Given the description of an element on the screen output the (x, y) to click on. 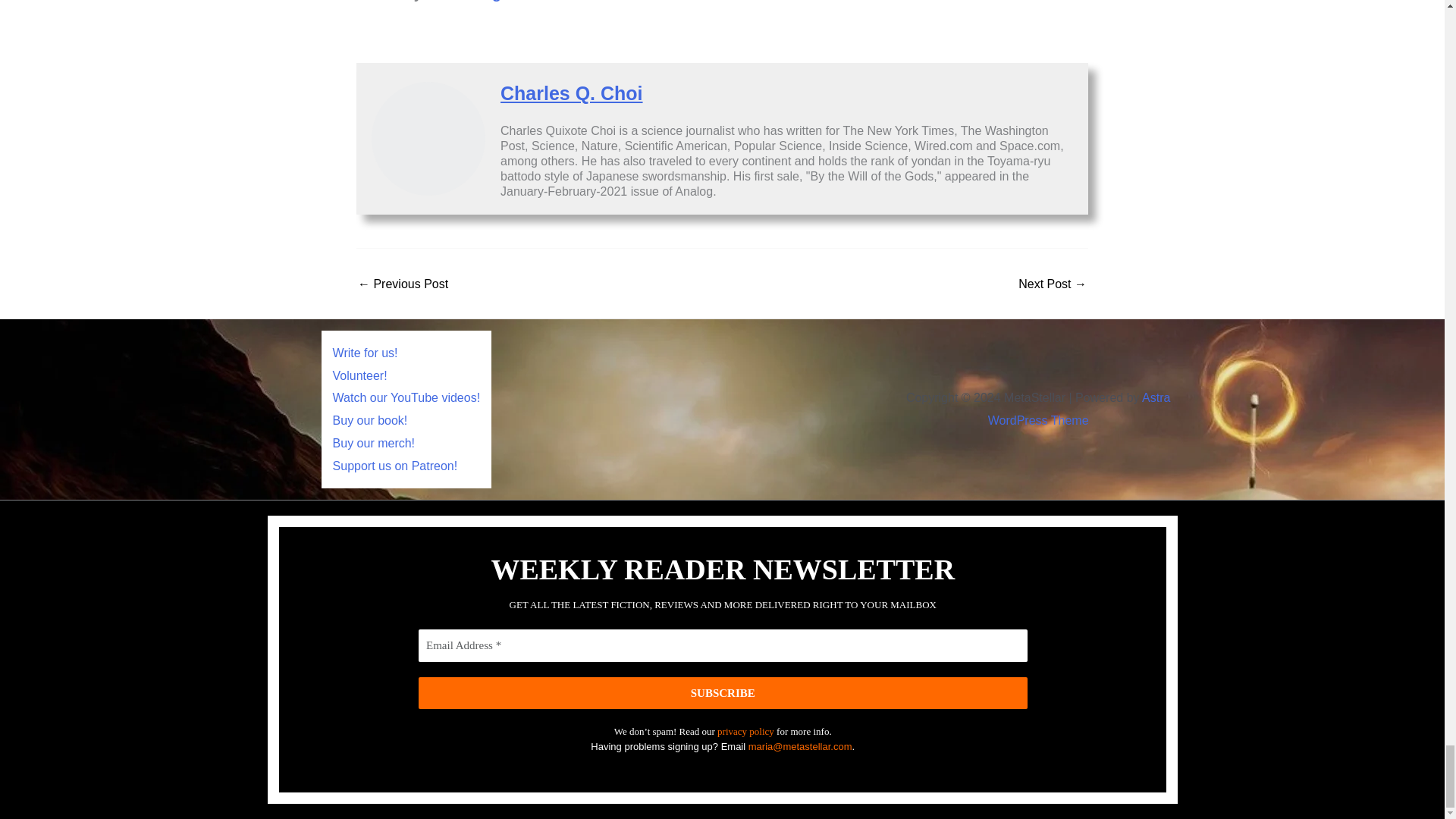
Starshine (403, 284)
Sugar Plum Ghosts (1051, 284)
SUBSCRIBE (721, 693)
Email Address (721, 645)
